Given the description of an element on the screen output the (x, y) to click on. 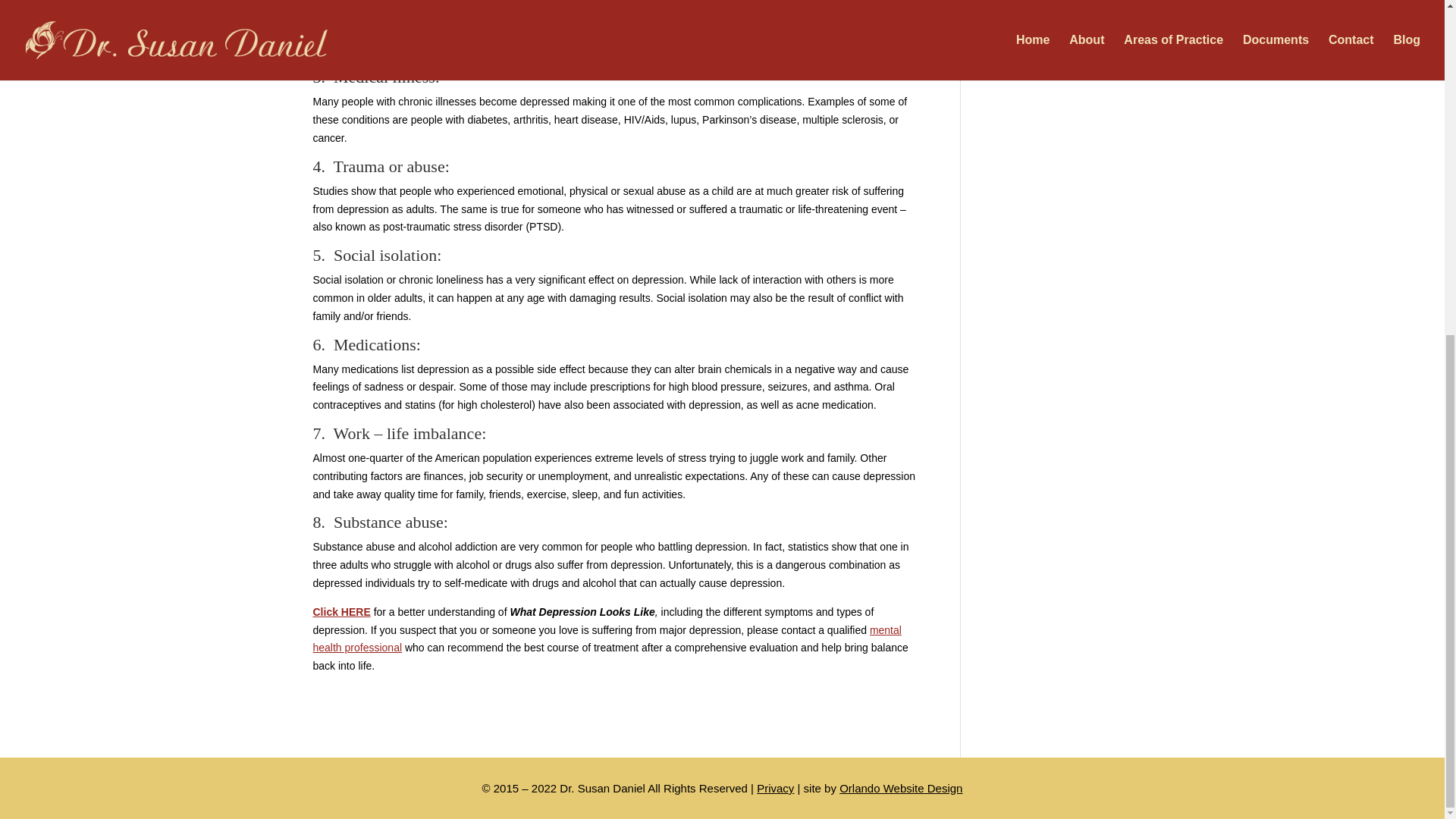
Privacy (775, 788)
What Depression Looks Like (341, 612)
Contact (607, 639)
mental health professional (607, 639)
Click HERE (341, 612)
Orlando Website Design (901, 788)
